Given the description of an element on the screen output the (x, y) to click on. 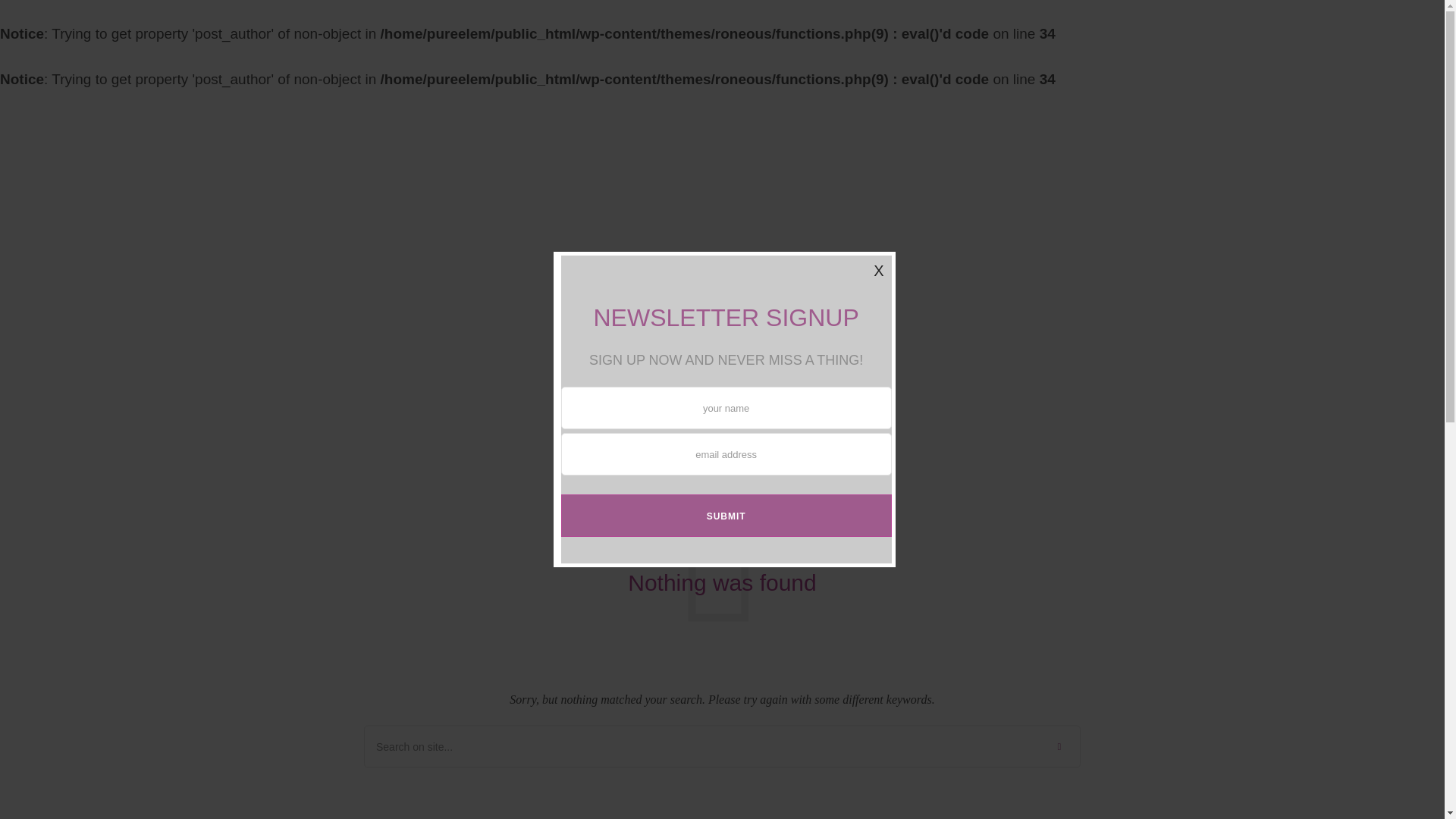
SUBMIT (725, 515)
SUBMIT (725, 515)
